Given the description of an element on the screen output the (x, y) to click on. 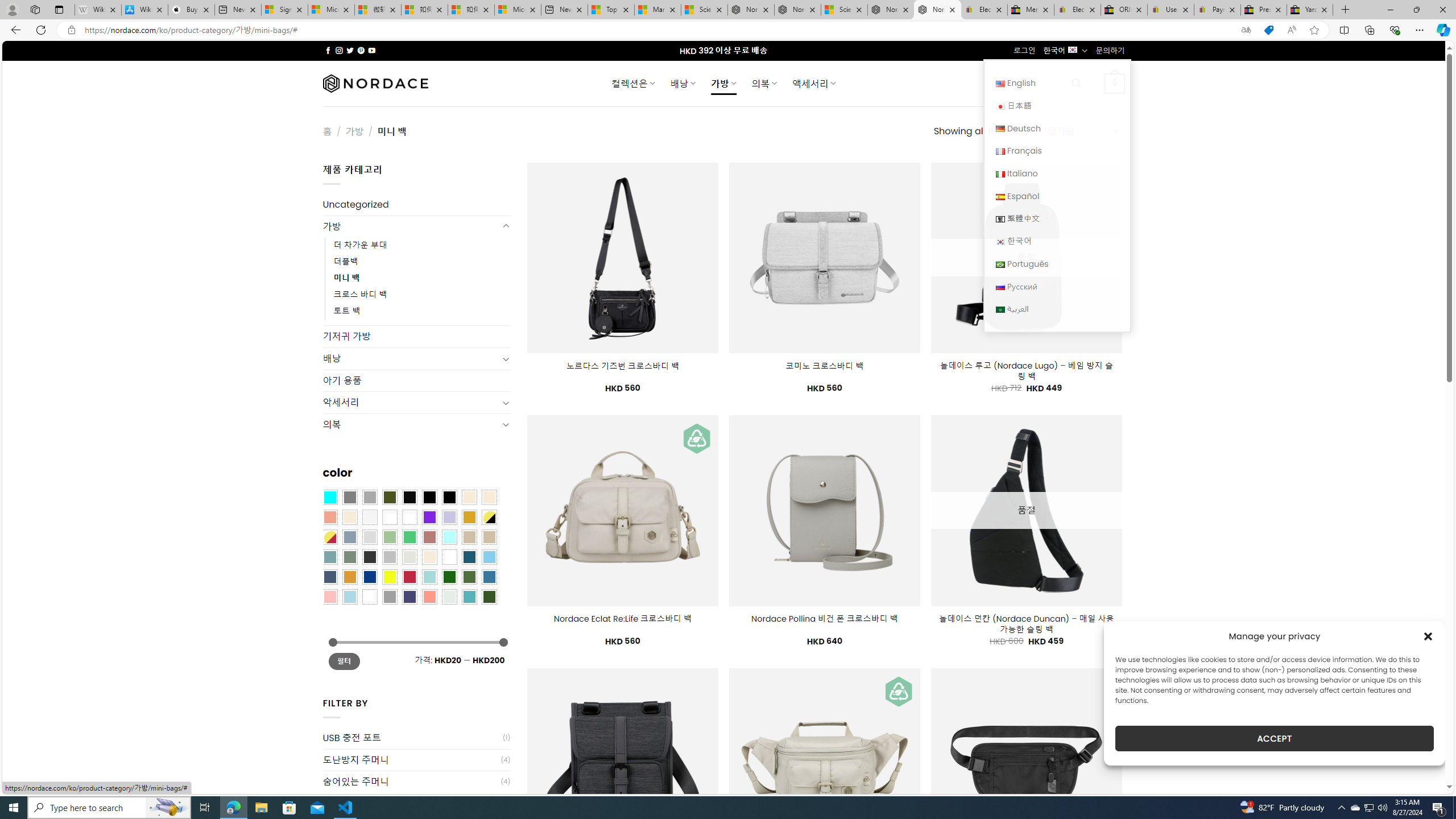
Purple (429, 517)
 Deutsch (1056, 128)
